Given the description of an element on the screen output the (x, y) to click on. 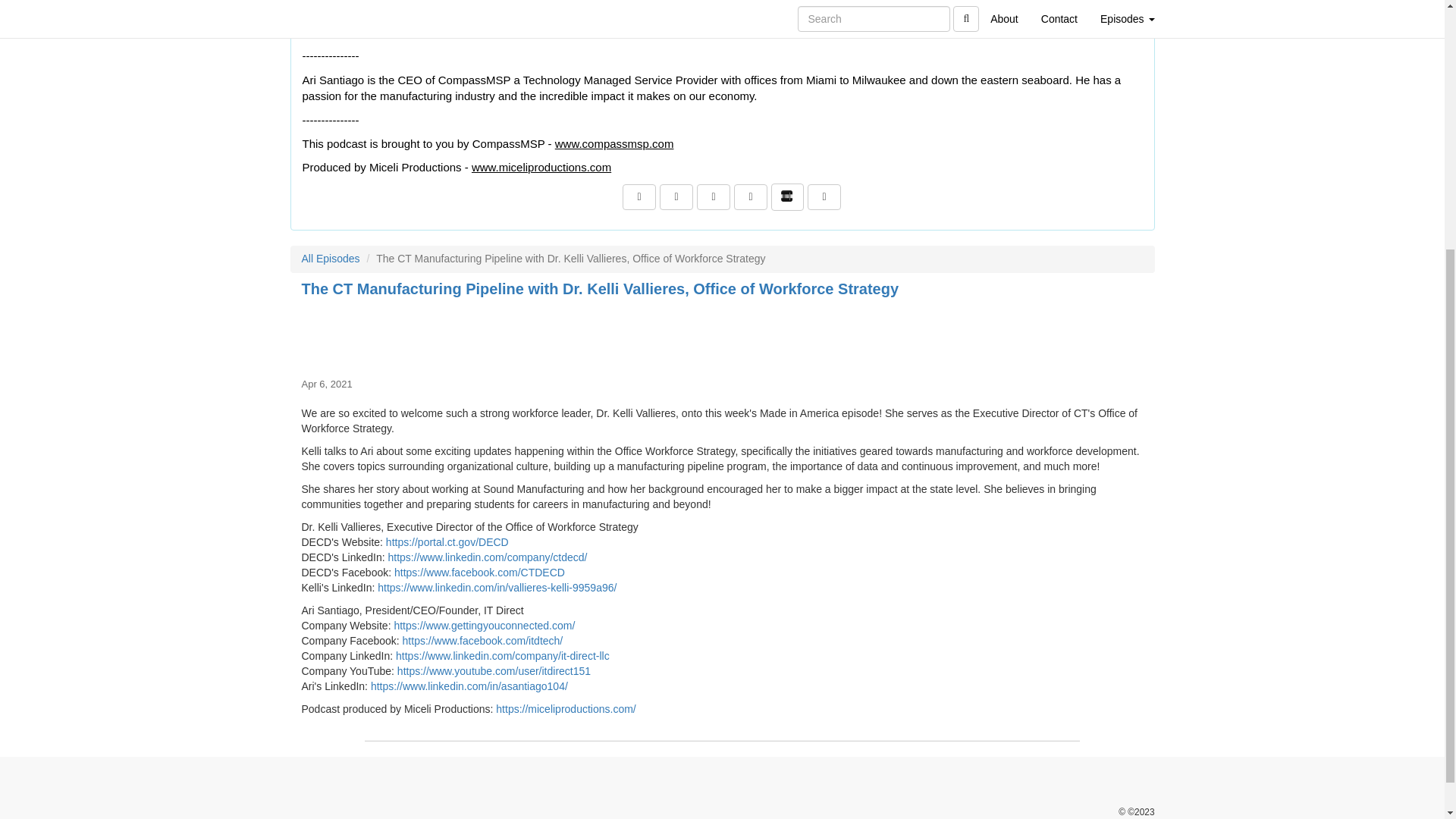
Listen on Stitcher (787, 196)
Visit Us on Facebook (639, 196)
Subscribe to RSS Feed (713, 196)
Listen on Apple Podcasts (750, 196)
Go To YouTube Channel (824, 196)
View Our LinkedIn Page (676, 196)
